Given the description of an element on the screen output the (x, y) to click on. 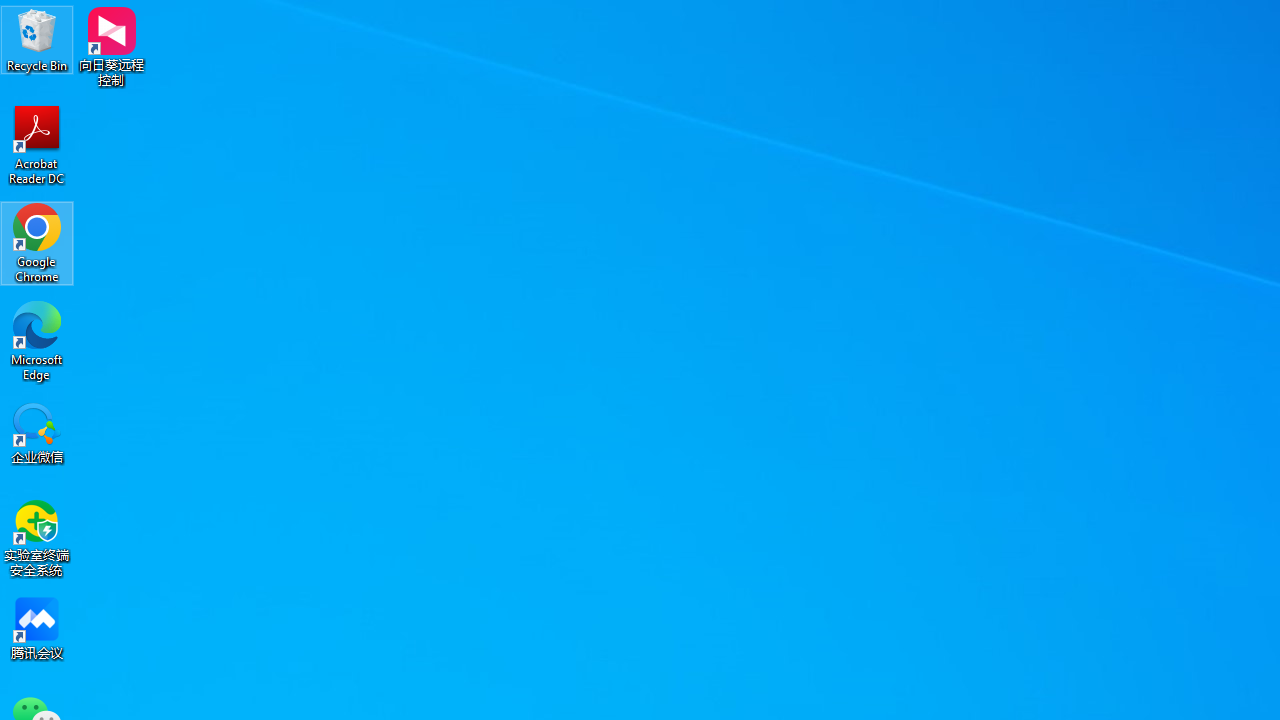
Google Chrome (37, 242)
Microsoft Edge (37, 340)
Acrobat Reader DC (37, 144)
Recycle Bin (37, 39)
